Given the description of an element on the screen output the (x, y) to click on. 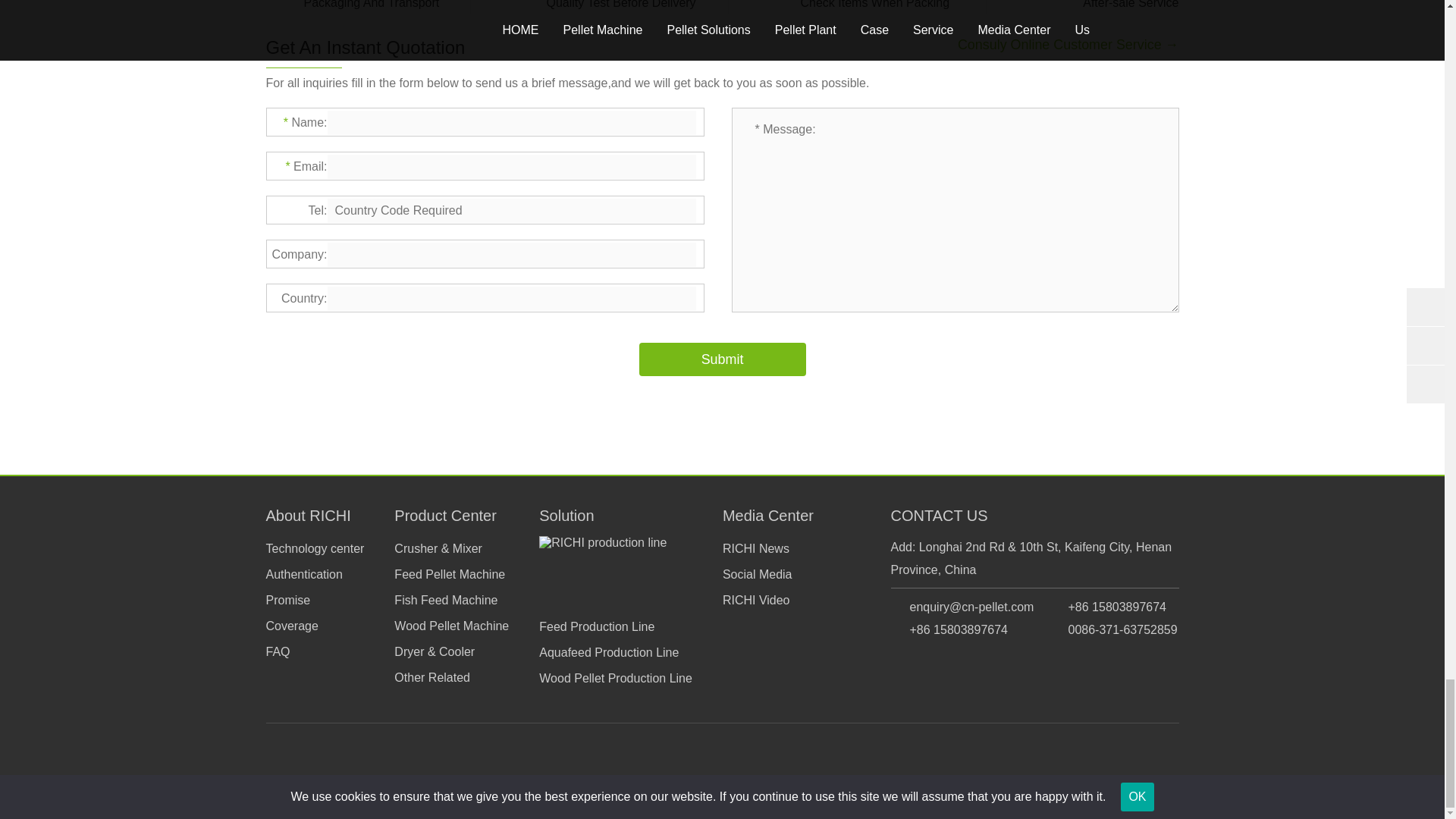
Submit (722, 359)
Please fill in the correct phone format (511, 210)
